Given the description of an element on the screen output the (x, y) to click on. 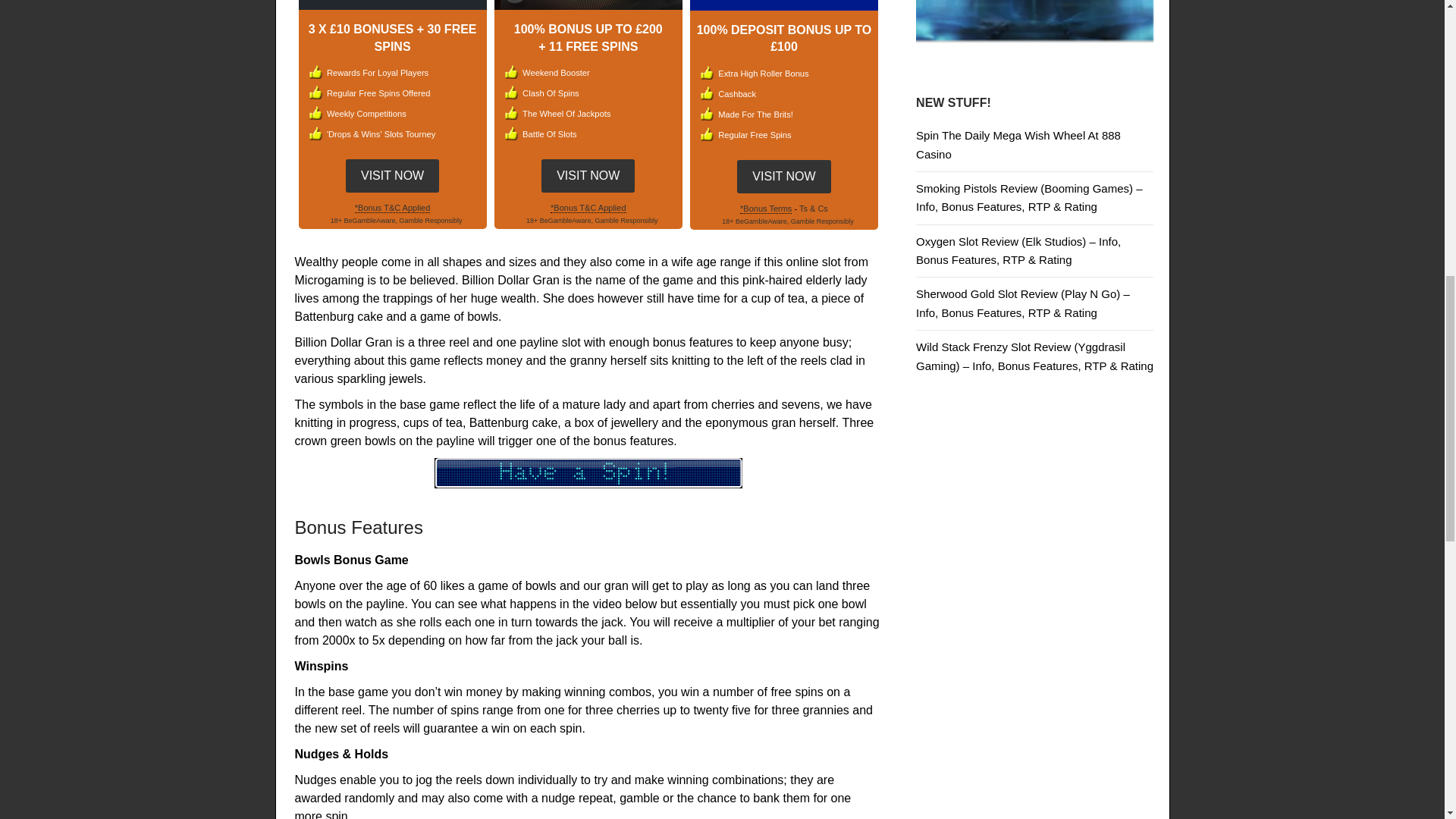
VISIT NOW (392, 175)
VISIT NOW (587, 174)
VISIT NOW (392, 174)
pilgrim of dead slider (1034, 21)
